Given the description of an element on the screen output the (x, y) to click on. 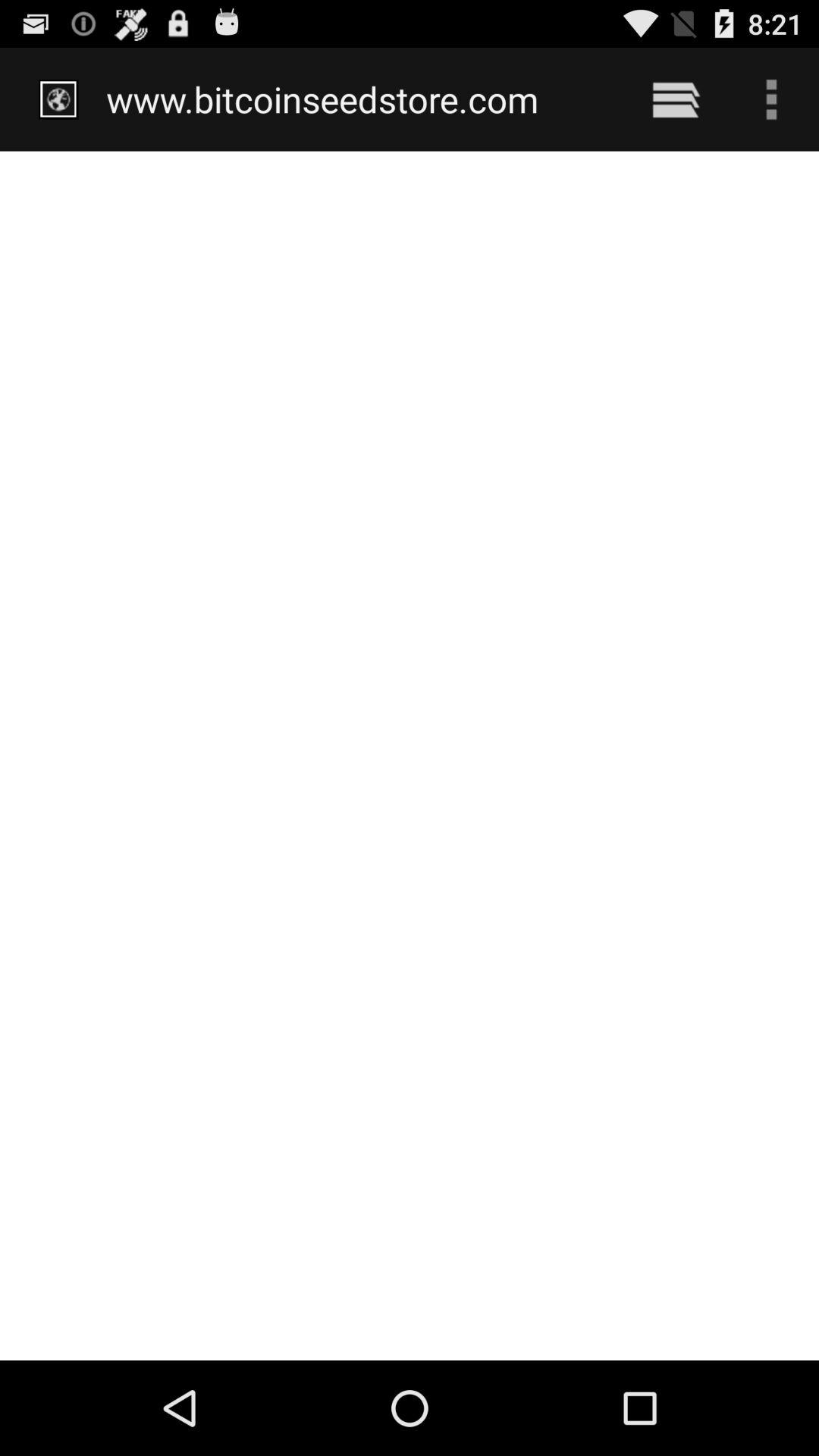
turn on item to the right of the www.bitcoinseedstore.com icon (675, 99)
